Given the description of an element on the screen output the (x, y) to click on. 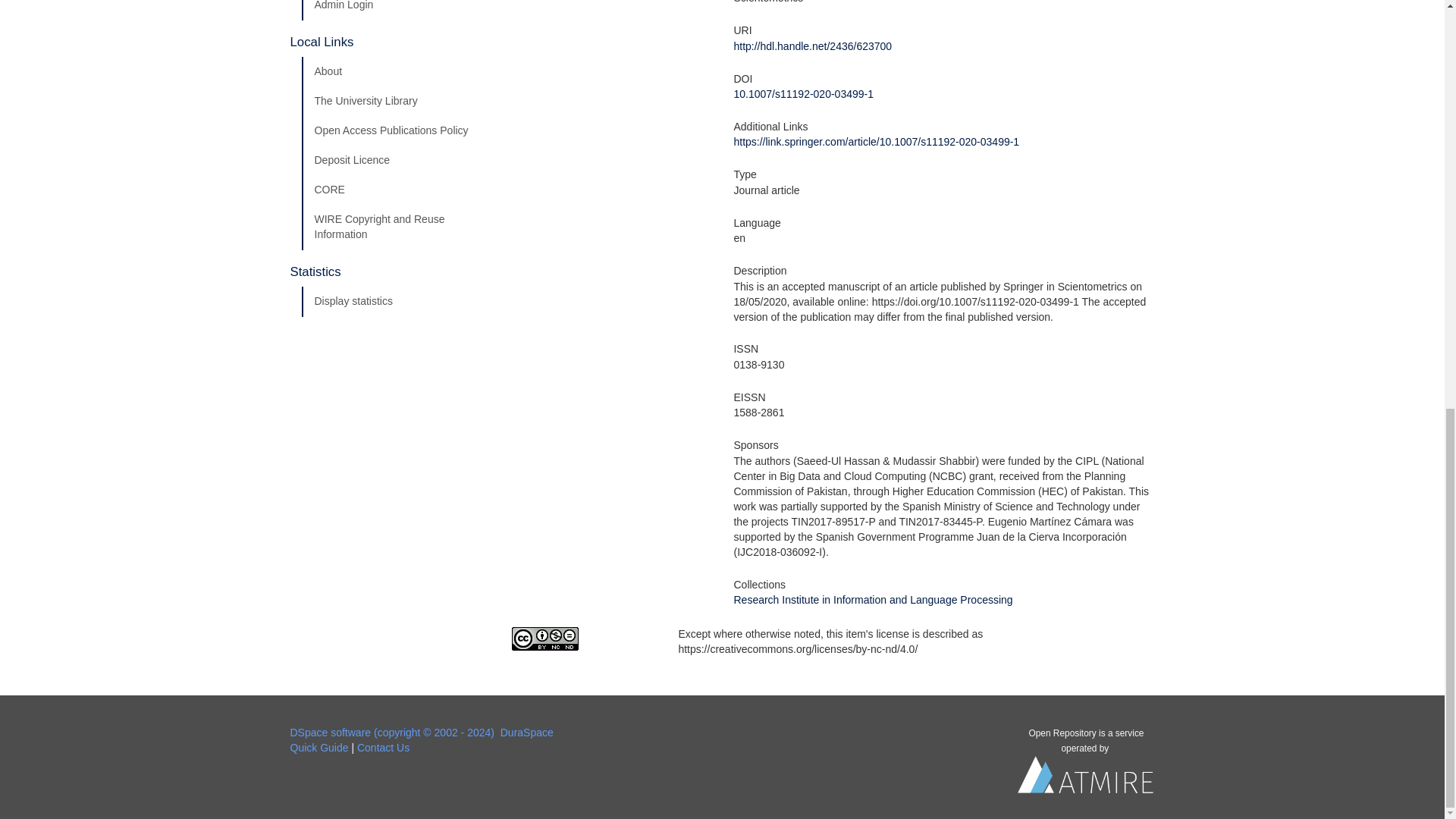
CORE (395, 190)
Atmire NV (1085, 778)
Admin Login (395, 10)
The University Library (395, 101)
Deposit Licence (395, 160)
Open Access Publications Policy (395, 131)
About (395, 71)
